Given the description of an element on the screen output the (x, y) to click on. 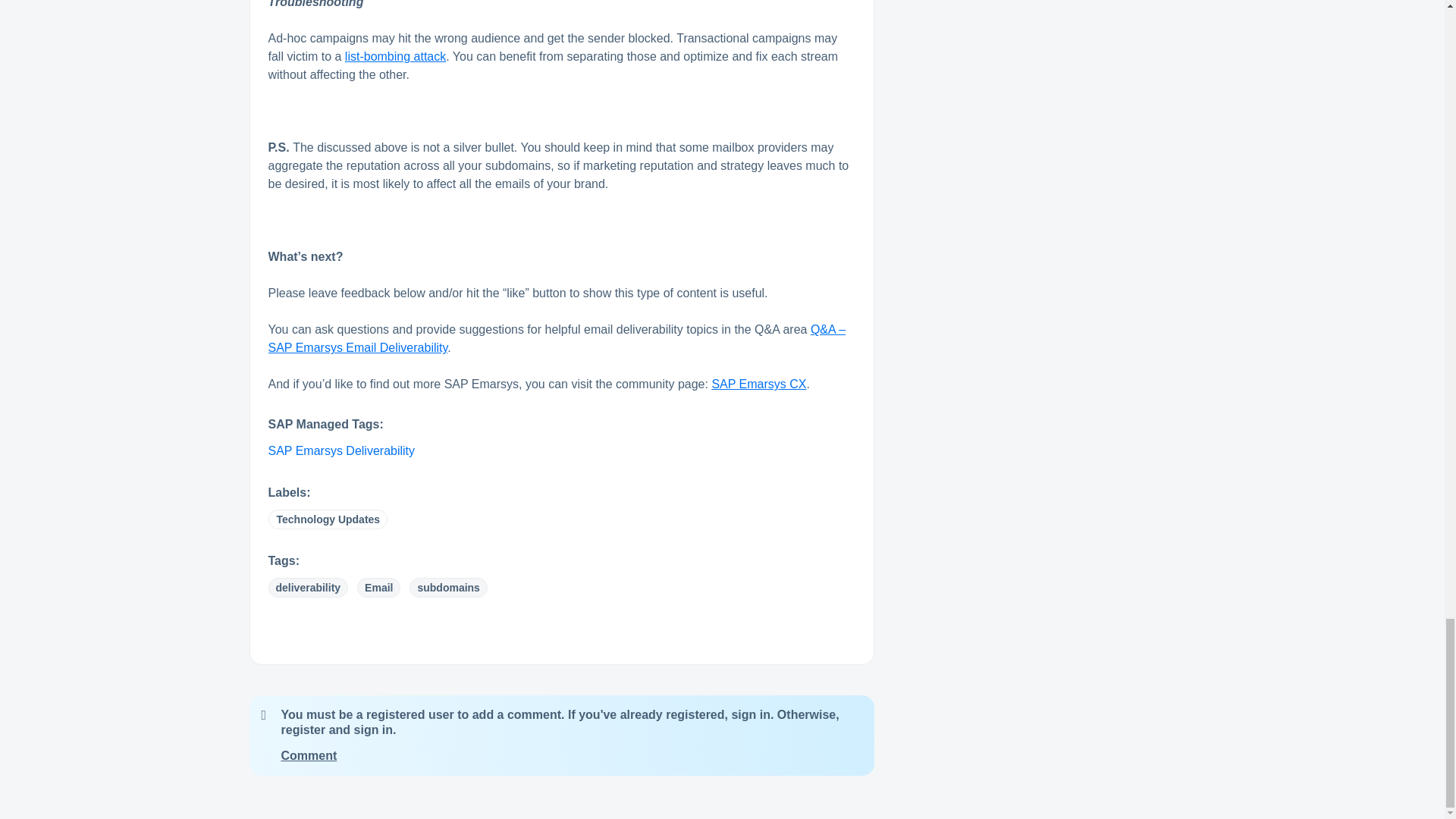
Comment (308, 755)
list-bombing attack (395, 56)
Email (378, 587)
deliverability (308, 587)
Technology Updates (327, 519)
subdomains (447, 587)
SAP Emarsys Deliverability (340, 450)
SAP Emarsys CX (758, 383)
